Given the description of an element on the screen output the (x, y) to click on. 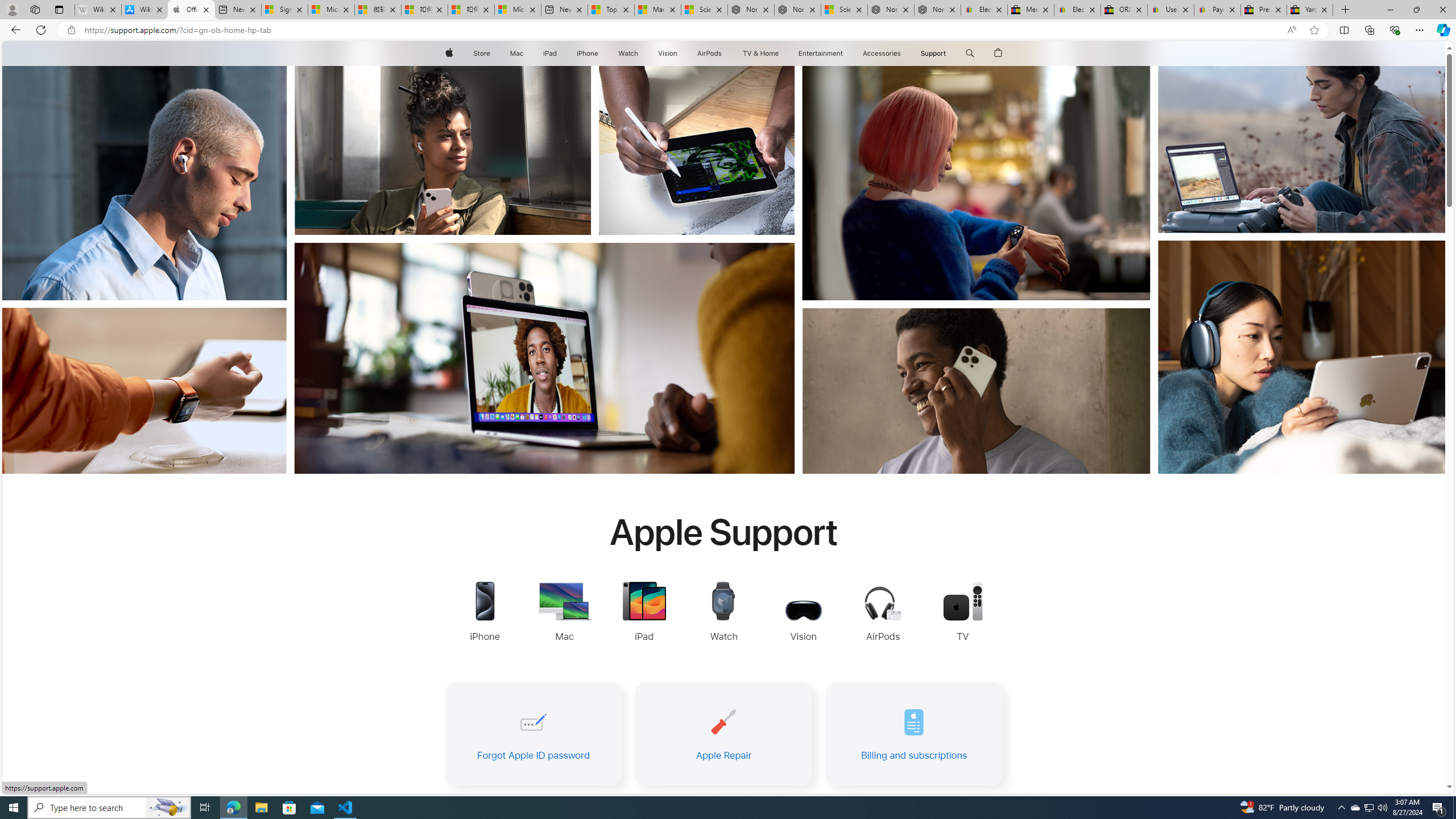
Nordace - FAQ (937, 9)
